Given the description of an element on the screen output the (x, y) to click on. 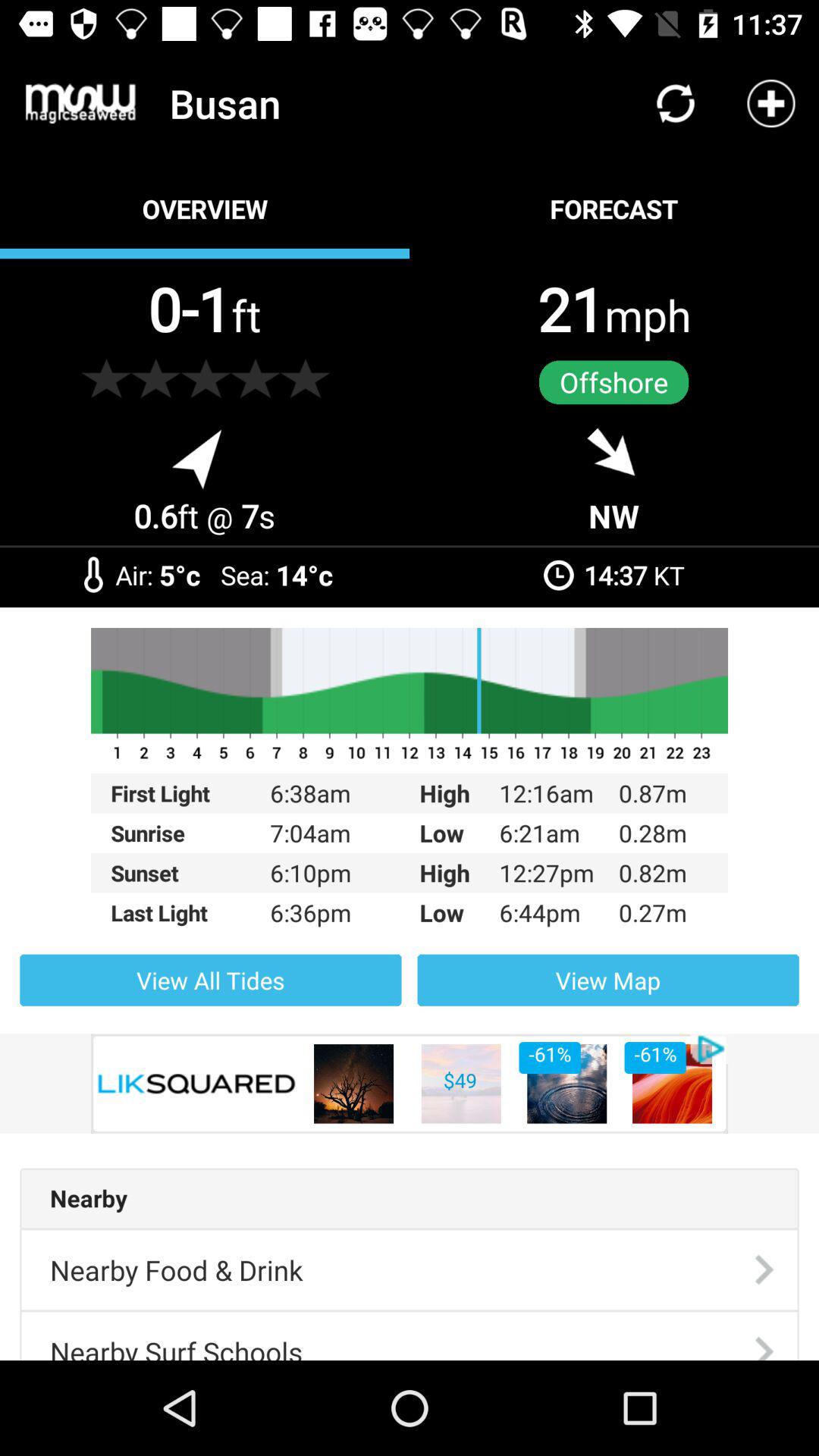
swipe to the 14:37 kt item (634, 574)
